Given the description of an element on the screen output the (x, y) to click on. 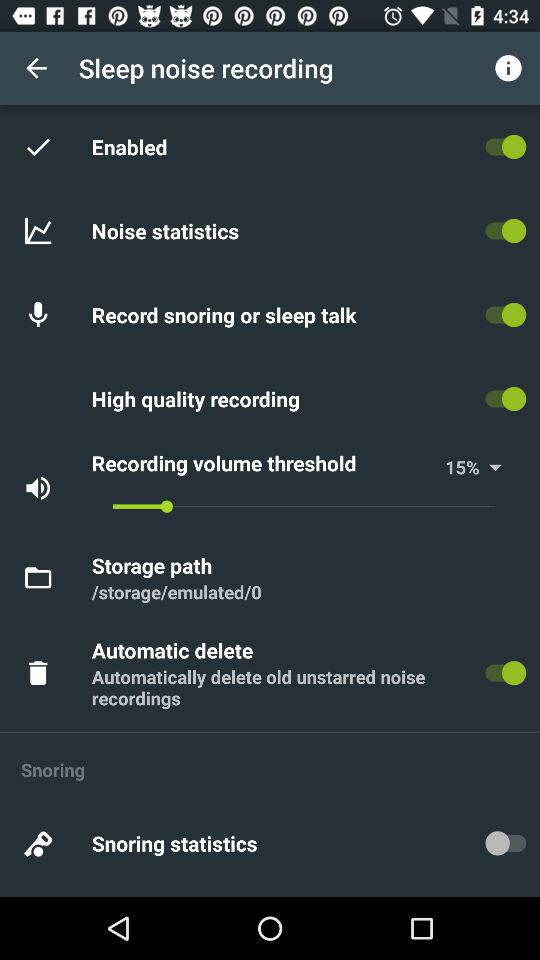
select the icon next to the sleep noise recording item (36, 68)
